Given the description of an element on the screen output the (x, y) to click on. 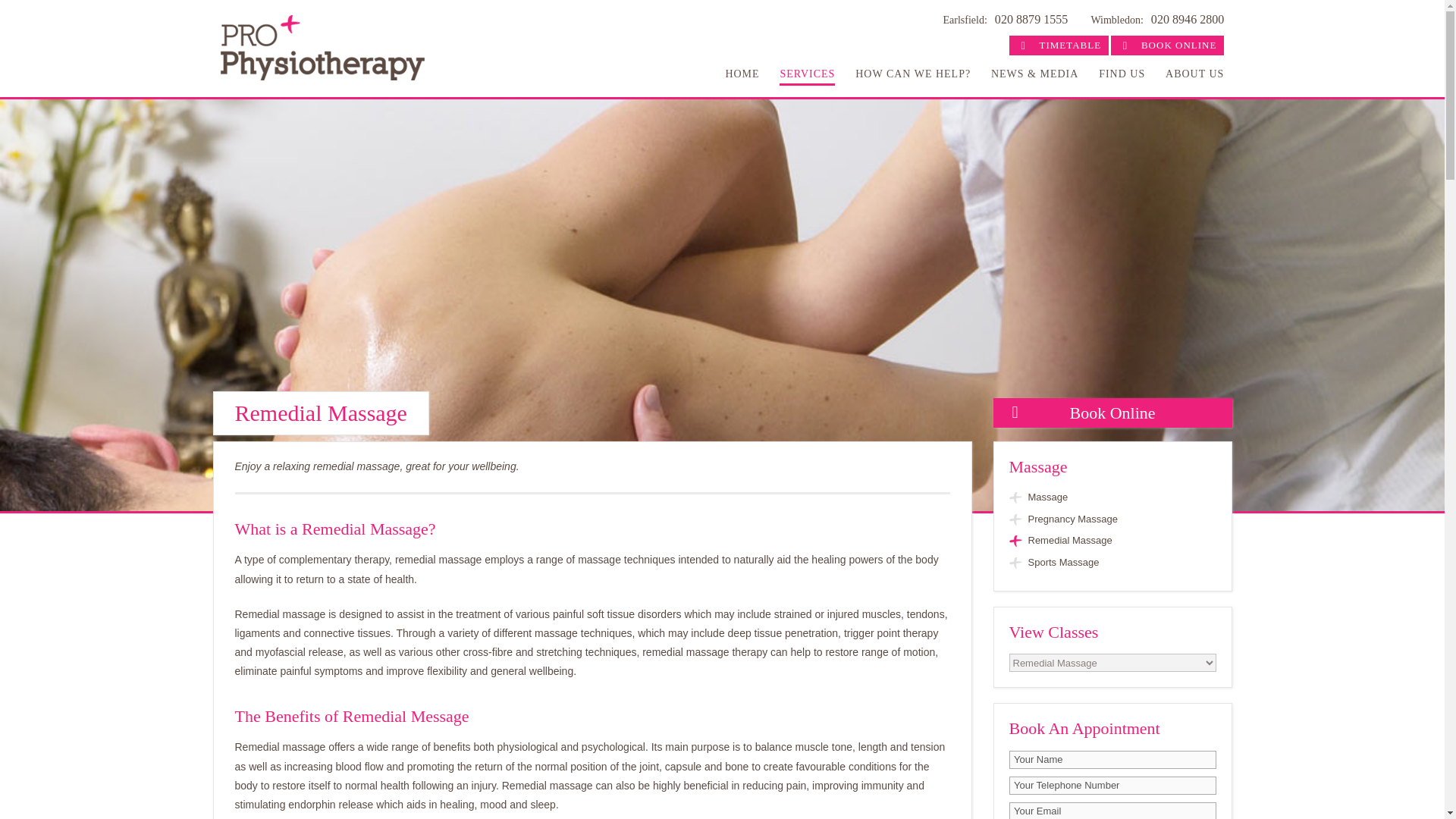
HOW CAN WE HELP? (913, 74)
HOME (741, 74)
FIND US (1121, 74)
TIMETABLE (1059, 45)
SERVICES (806, 74)
BOOK ONLINE (1167, 45)
020 8946 2800 (1187, 19)
020 8879 1555 (1031, 19)
ABOUT US (1195, 74)
